Given the description of an element on the screen output the (x, y) to click on. 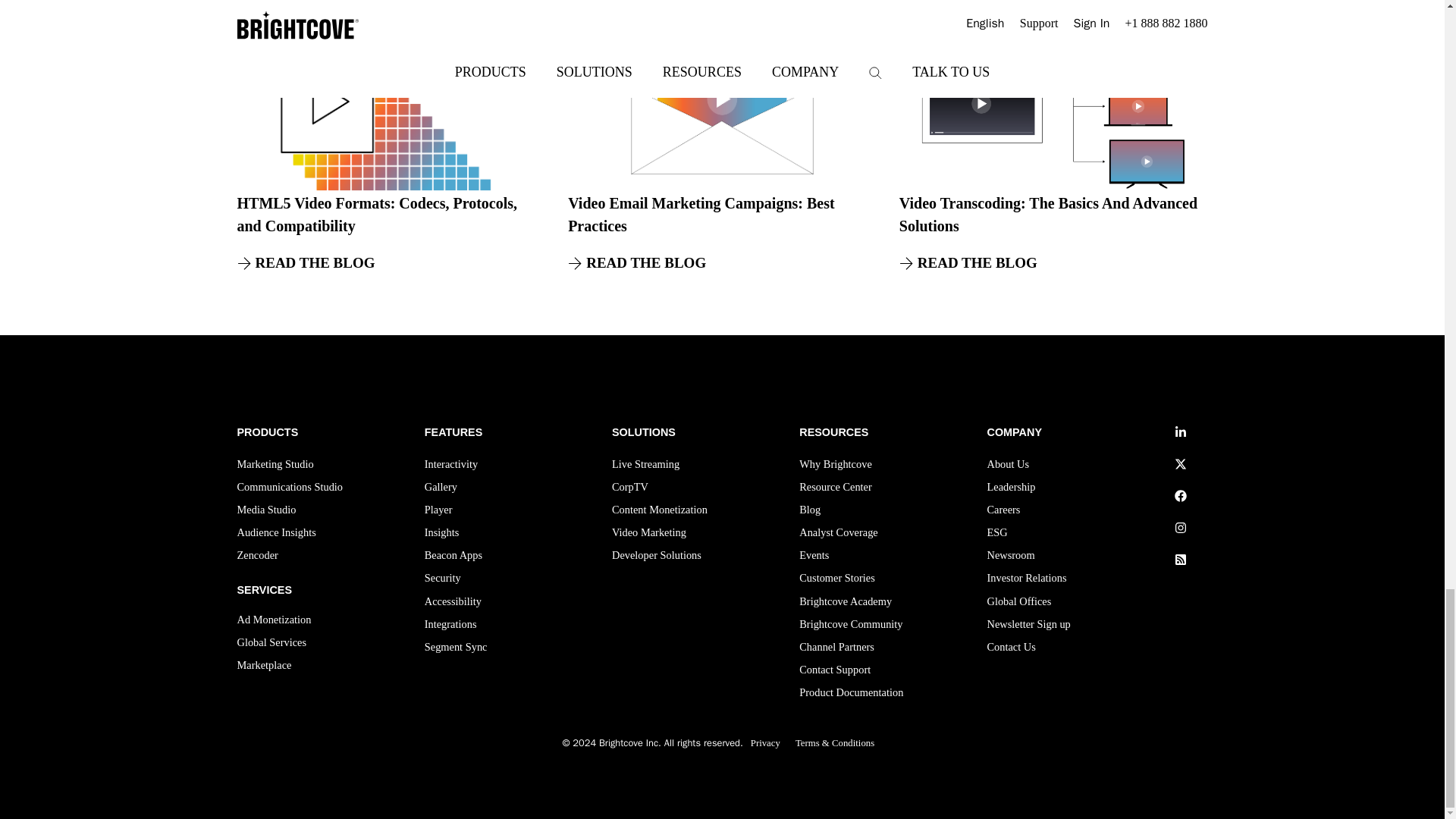
Audience Insights (275, 534)
Global Services (270, 644)
Ad Monetization (273, 621)
Communications Studio (288, 487)
Media Studio (265, 511)
Marketing Studio (274, 465)
Zencoder (256, 557)
Interactivity (451, 465)
Marketplace (263, 667)
